Given the description of an element on the screen output the (x, y) to click on. 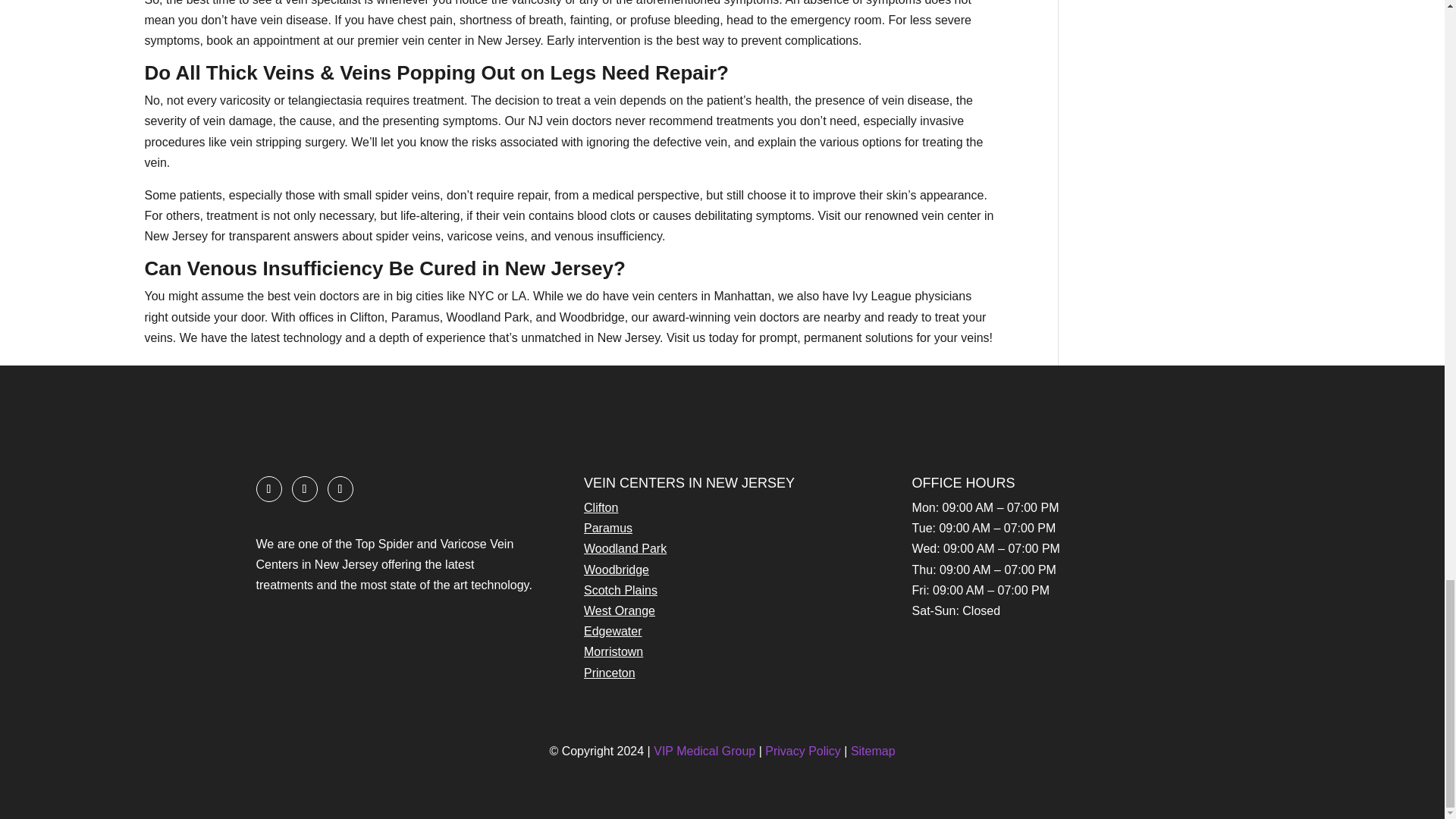
Follow on Facebook (269, 488)
Follow on Youtube (340, 488)
vip-logo-white (348, 410)
Follow on google-plus (304, 488)
